Given the description of an element on the screen output the (x, y) to click on. 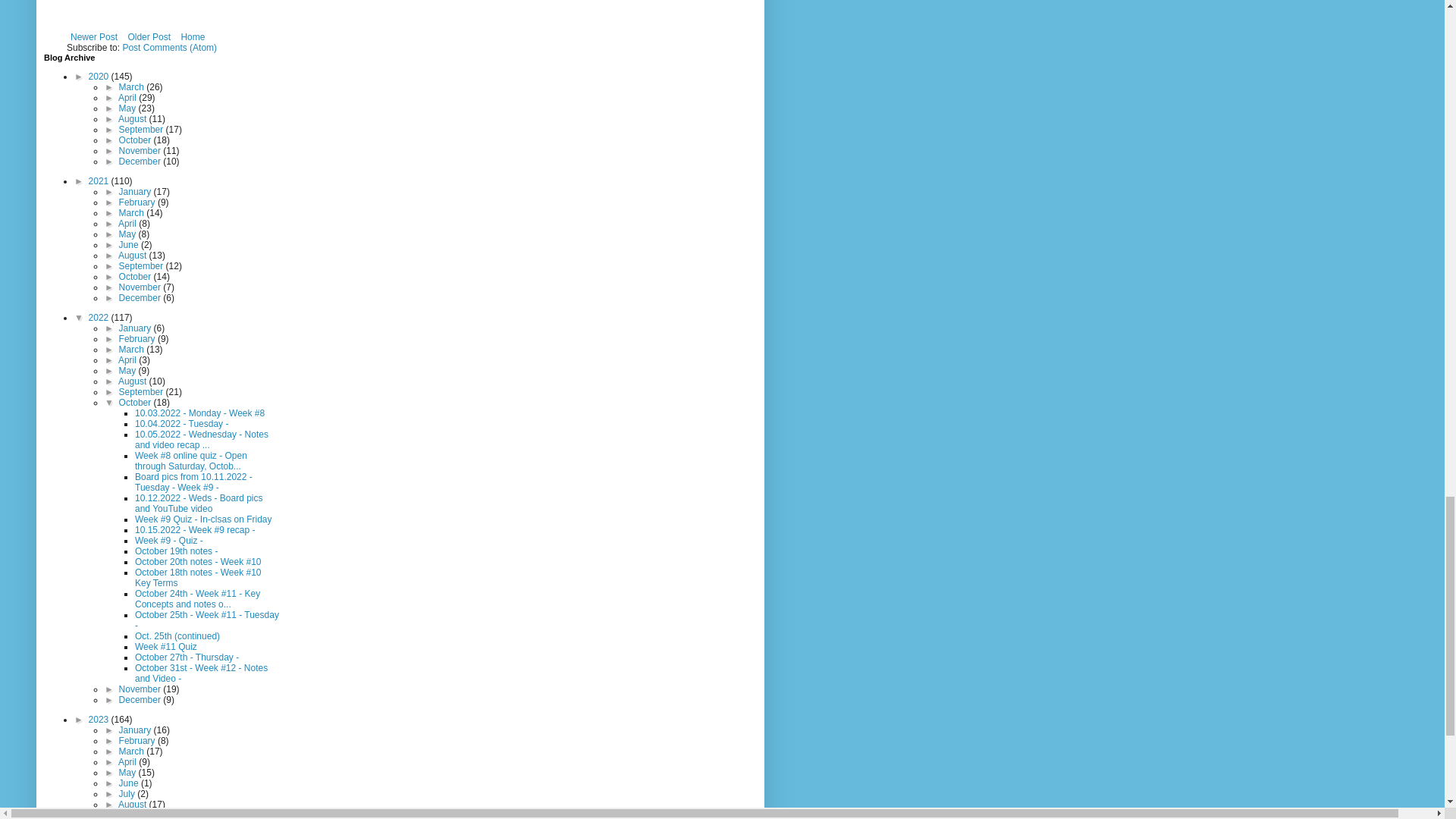
September (142, 129)
Older Post (148, 36)
Newer Post (93, 36)
Older Post (148, 36)
May (128, 108)
Home (192, 36)
2020 (100, 76)
March (133, 86)
April (127, 97)
Newer Post (93, 36)
November (141, 150)
August (133, 118)
October (136, 140)
December (141, 161)
